Given the description of an element on the screen output the (x, y) to click on. 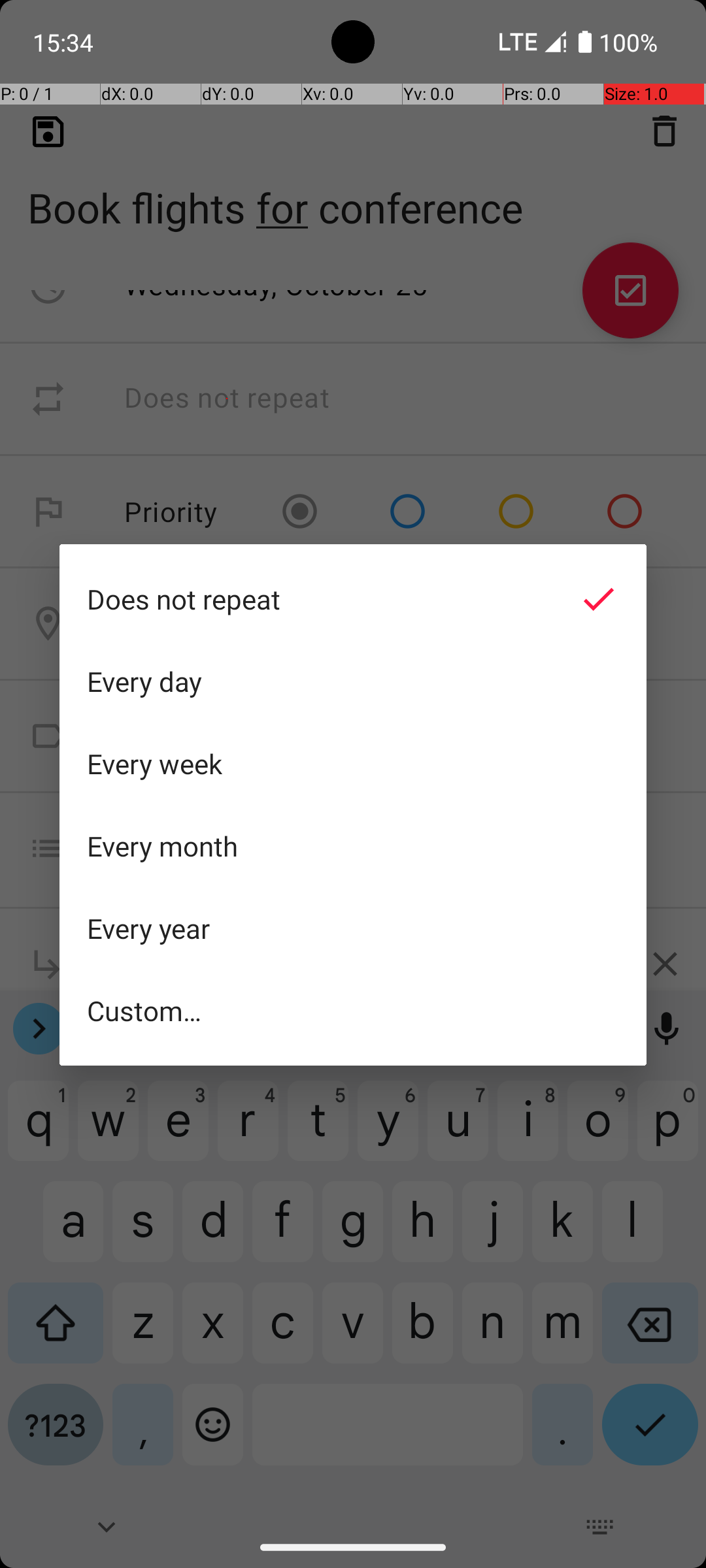
Every day Element type: android.widget.CheckedTextView (352, 681)
Every week Element type: android.widget.CheckedTextView (352, 763)
Every month Element type: android.widget.CheckedTextView (352, 845)
Every year Element type: android.widget.CheckedTextView (352, 928)
Custom… Element type: android.widget.CheckedTextView (352, 1010)
